Given the description of an element on the screen output the (x, y) to click on. 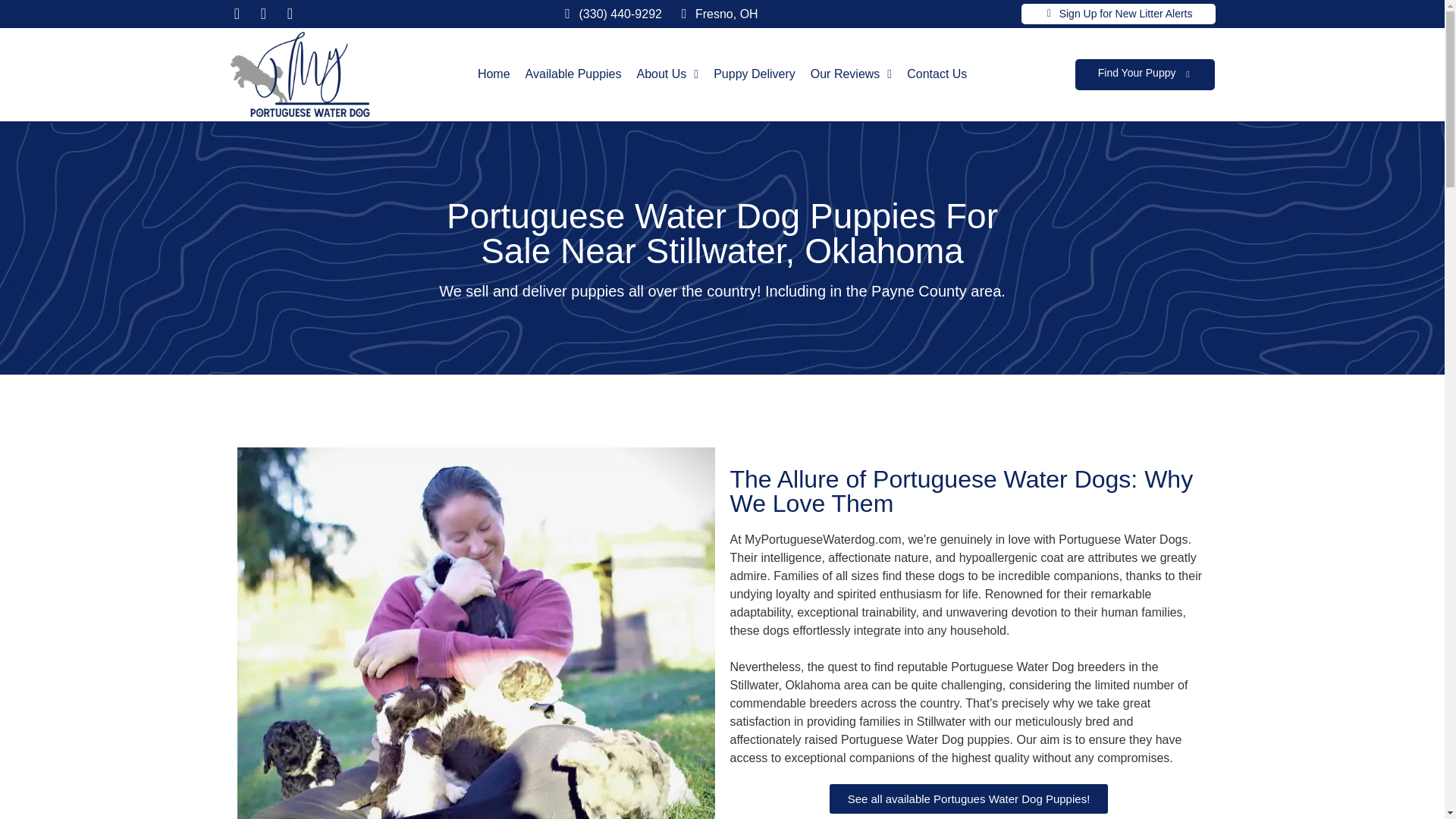
About Us (667, 73)
Our Reviews (850, 73)
Contact Us (936, 73)
Fresno, OH (726, 13)
Available Puppies (573, 73)
Sign Up for New Litter Alerts (1125, 13)
Puppy Delivery (753, 73)
Find Your Puppy (1136, 72)
See all available Portugues Water Dog Puppies! (968, 798)
Home (494, 73)
